Given the description of an element on the screen output the (x, y) to click on. 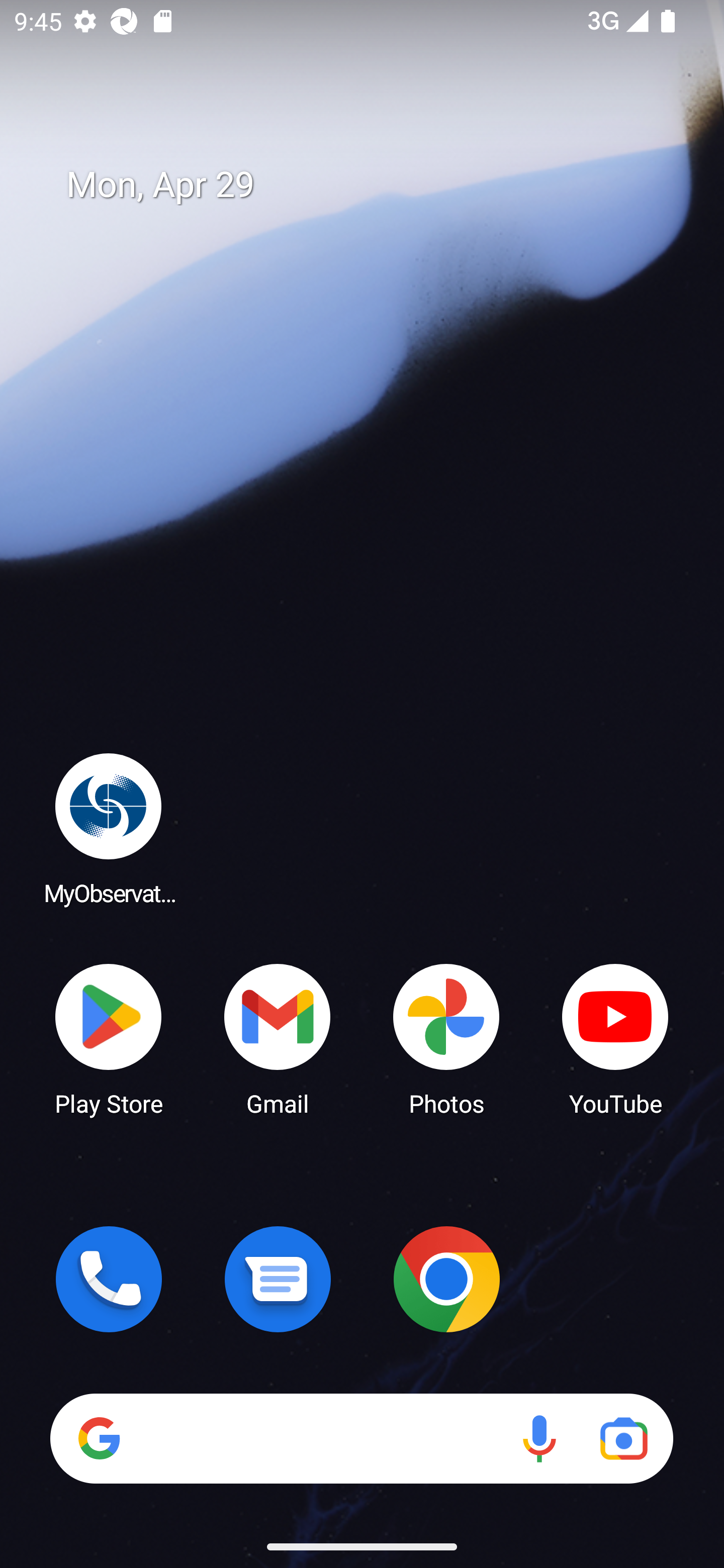
Mon, Apr 29 (375, 184)
MyObservatory (108, 828)
Play Store (108, 1038)
Gmail (277, 1038)
Photos (445, 1038)
YouTube (615, 1038)
Phone (108, 1279)
Messages (277, 1279)
Chrome (446, 1279)
Voice search (539, 1438)
Google Lens (623, 1438)
